Given the description of an element on the screen output the (x, y) to click on. 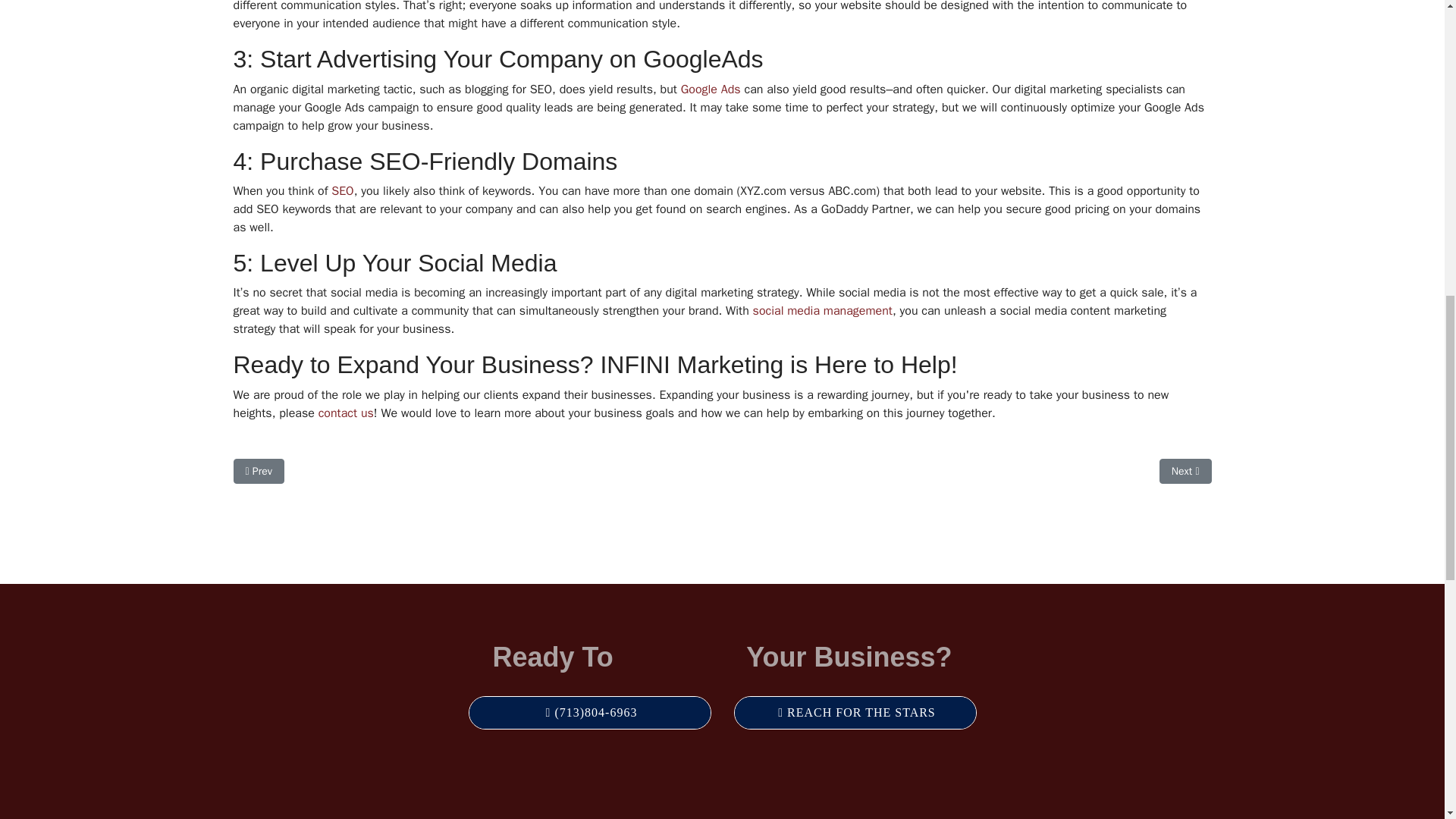
REACH FOR THE STARS (854, 712)
Google Ads (711, 89)
SEO (342, 191)
social media management (822, 310)
contact us (346, 412)
